Given the description of an element on the screen output the (x, y) to click on. 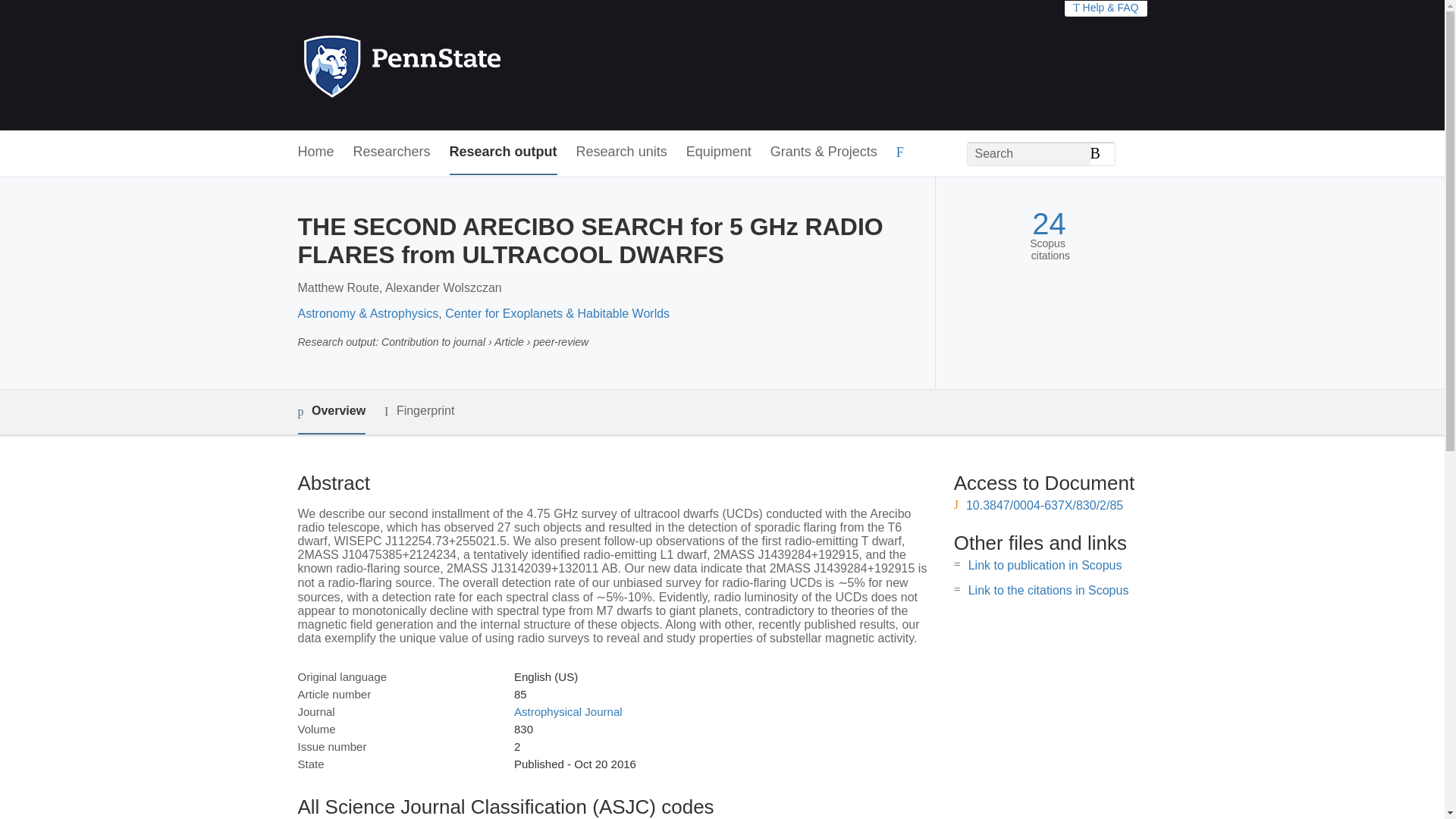
Research units (621, 152)
24 (1048, 223)
Home (315, 152)
Fingerprint (419, 411)
Research output (503, 152)
Link to the citations in Scopus (1048, 590)
Researchers (391, 152)
Overview (331, 411)
Link to publication in Scopus (1045, 564)
Penn State Home (467, 65)
Equipment (718, 152)
Astrophysical Journal (568, 711)
